Given the description of an element on the screen output the (x, y) to click on. 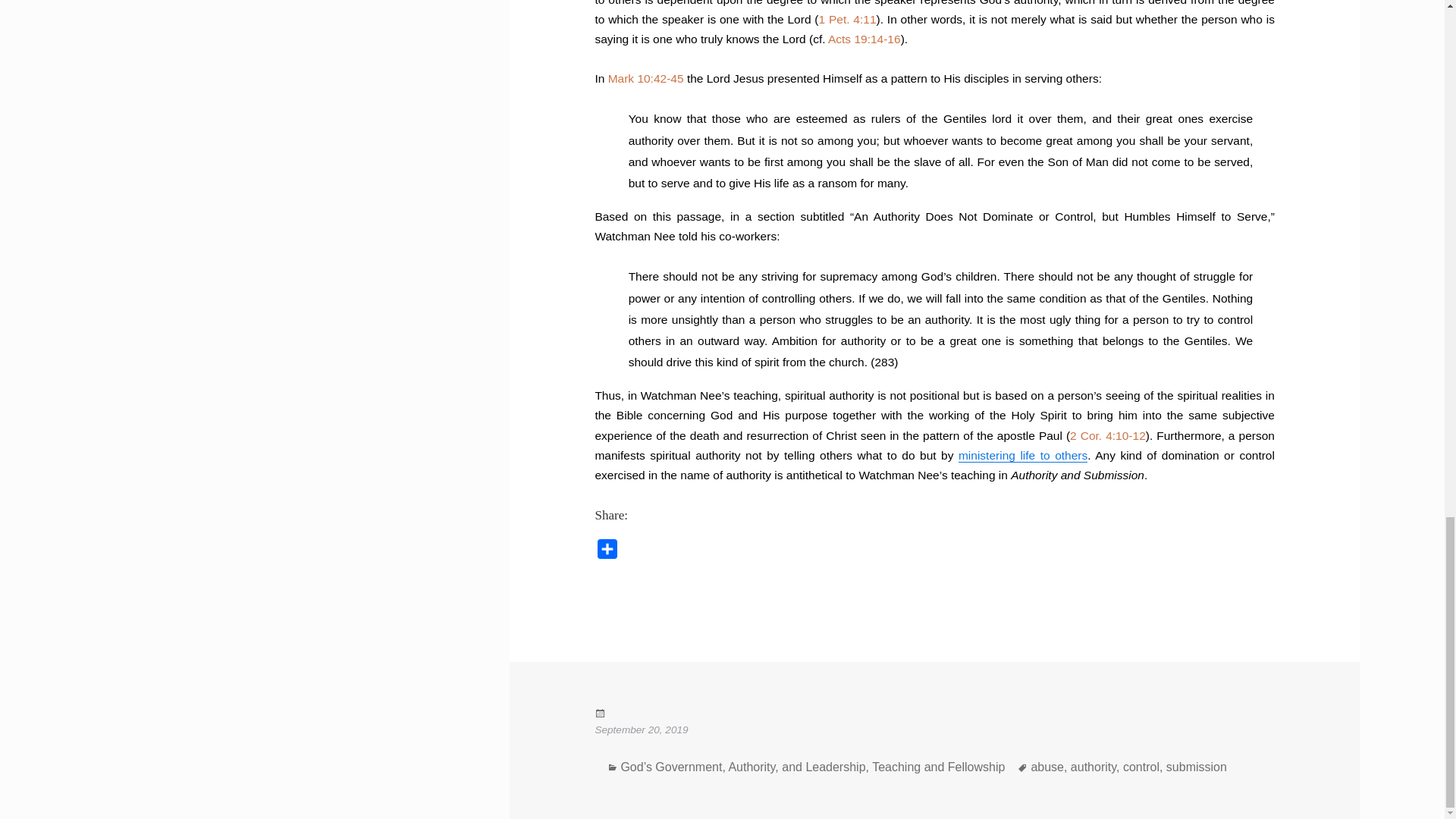
September 20, 2019 (934, 756)
Share (607, 551)
ministering life to others (1022, 455)
